Given the description of an element on the screen output the (x, y) to click on. 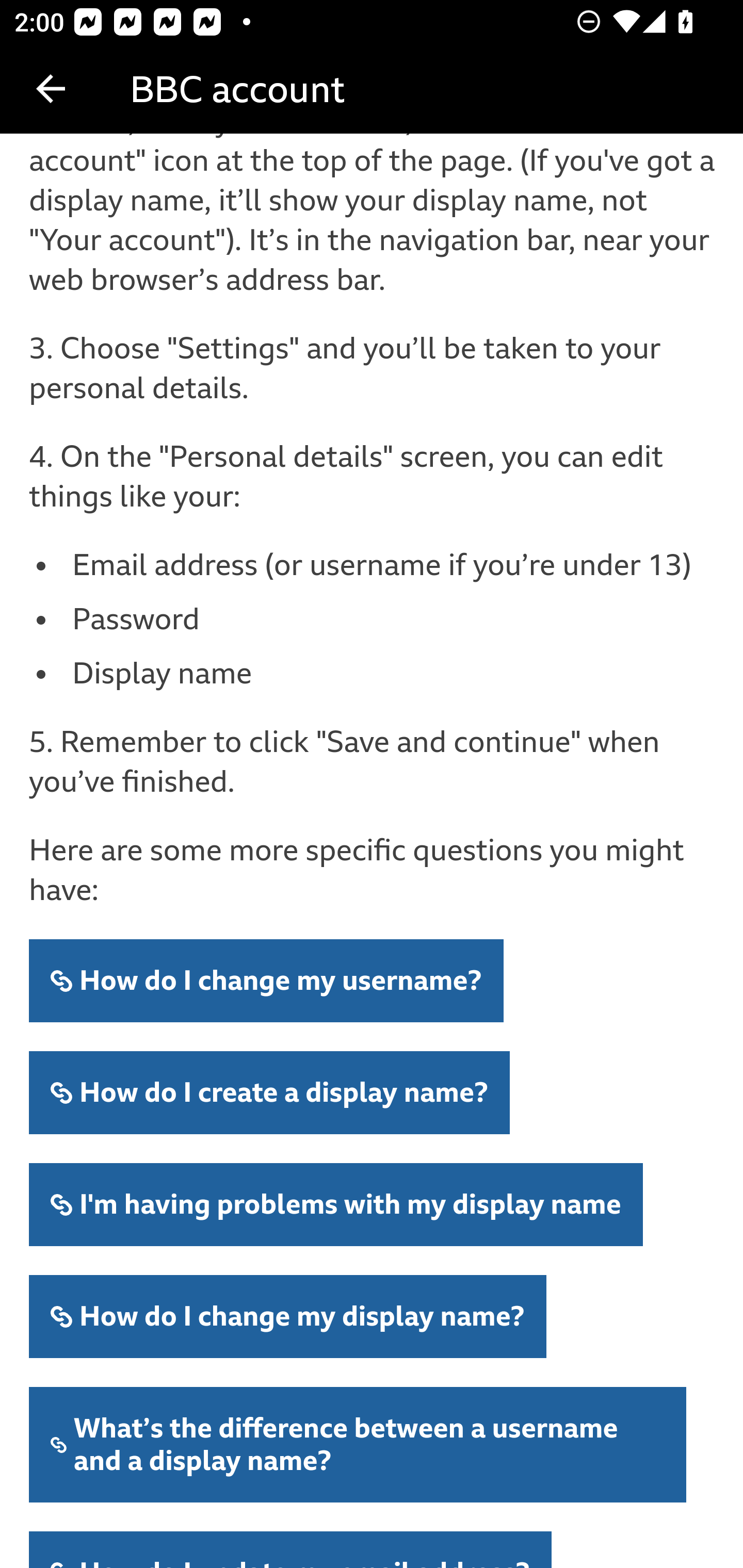
How do I change my username? (265, 981)
How do I create a display name? (269, 1092)
I'm having problems with my display name (336, 1203)
How do I change my display name? (287, 1316)
